Given the description of an element on the screen output the (x, y) to click on. 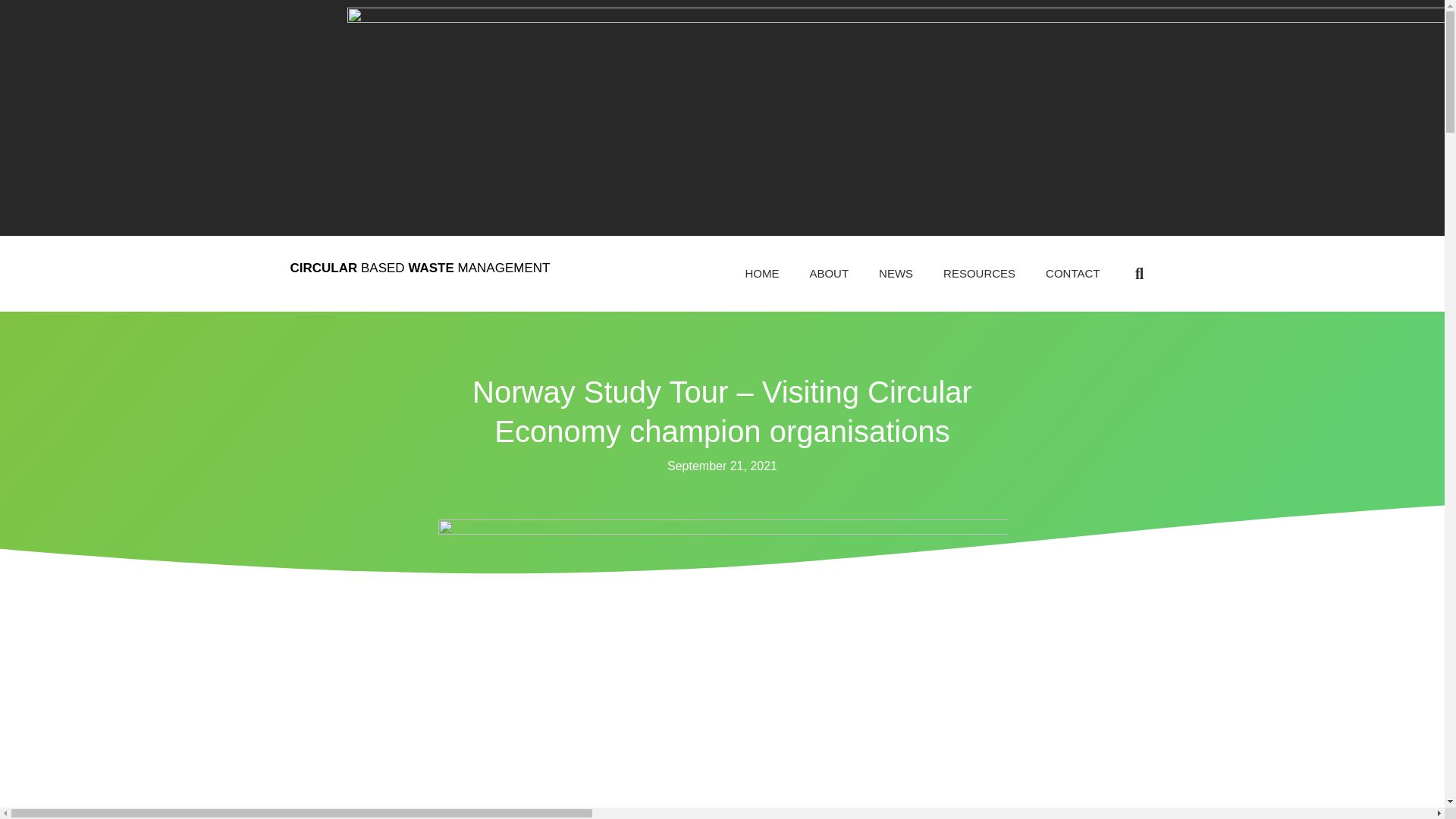
RESOURCES (979, 273)
September 21, 2021 (721, 466)
CIRCULAR BASED WASTE MANAGEMENT (419, 268)
CONTACT (1072, 273)
ABOUT (828, 273)
